Given the description of an element on the screen output the (x, y) to click on. 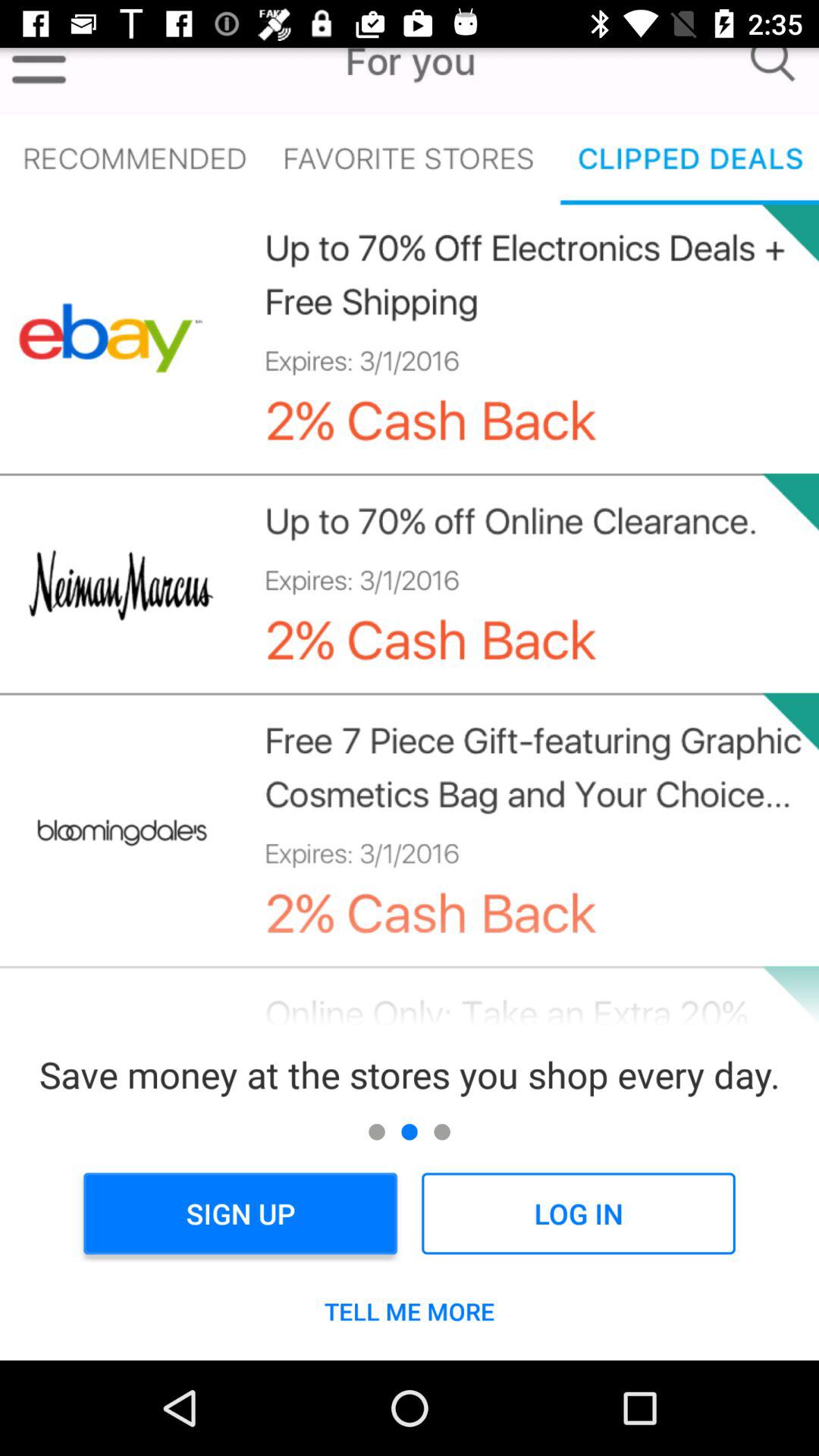
open the icon next to log in item (240, 1213)
